Given the description of an element on the screen output the (x, y) to click on. 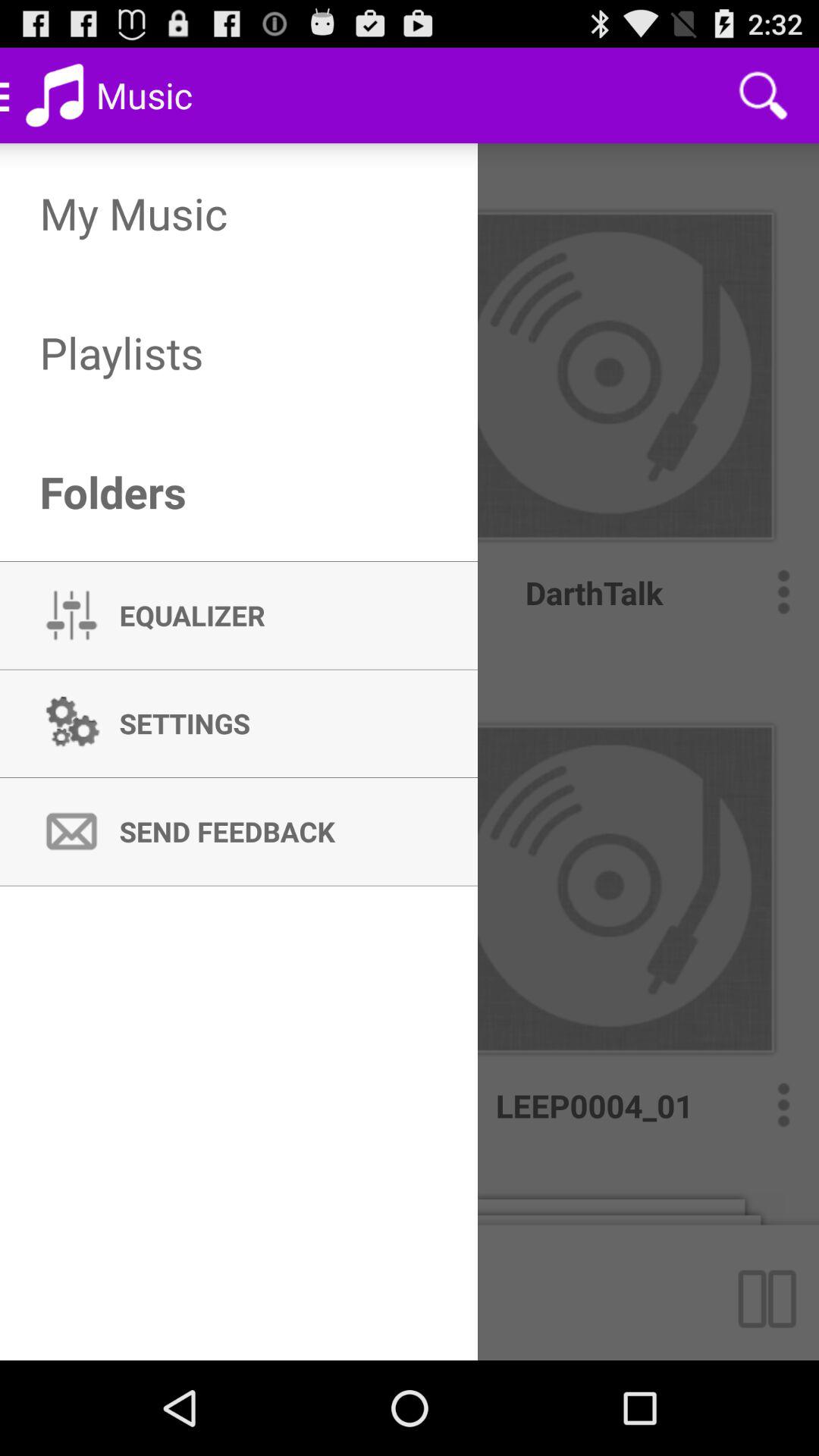
go to play button (773, 1292)
select the folder above darth talk (610, 351)
